Given the description of an element on the screen output the (x, y) to click on. 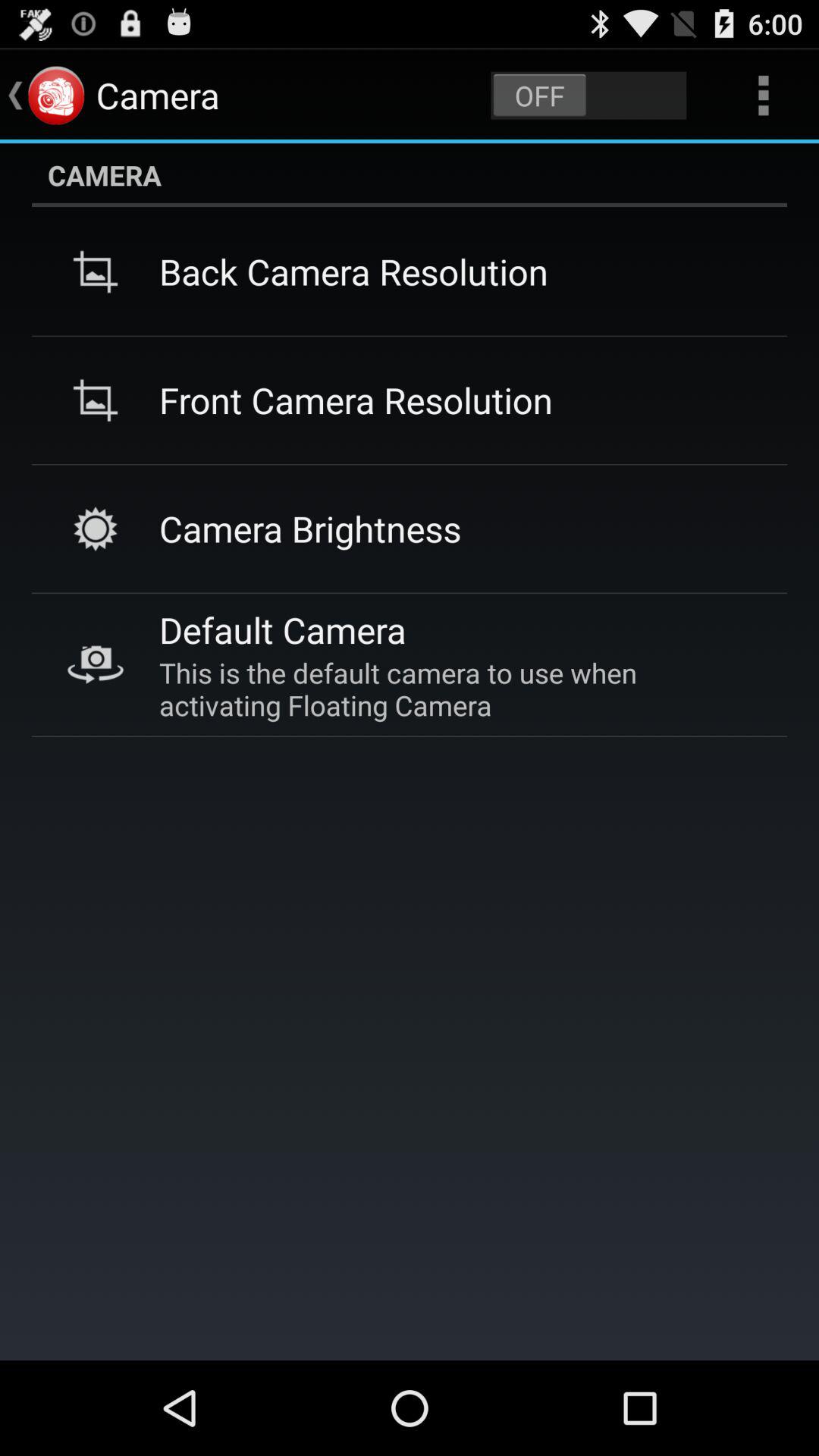
open the app next to camera icon (588, 95)
